Given the description of an element on the screen output the (x, y) to click on. 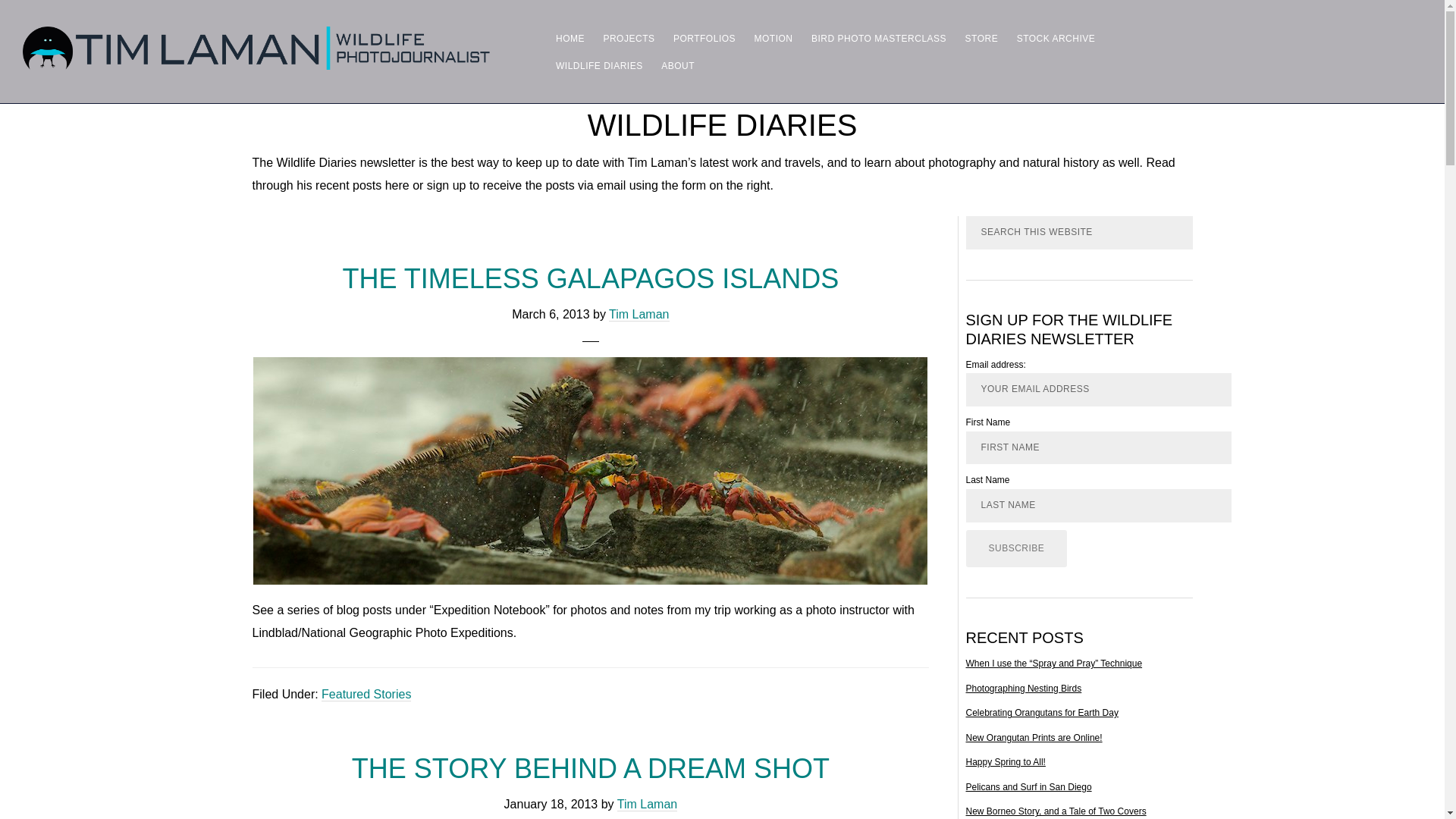
PROJECTS (628, 37)
WILDLIFE DIARIES (599, 64)
MOTION (773, 37)
Tim Laman (256, 35)
Subscribe (1016, 548)
STORE (982, 37)
HOME (570, 37)
BIRD PHOTO MASTERCLASS (878, 37)
STOCK ARCHIVE (1056, 37)
PORTFOLIOS (703, 37)
ABOUT (677, 64)
